Given the description of an element on the screen output the (x, y) to click on. 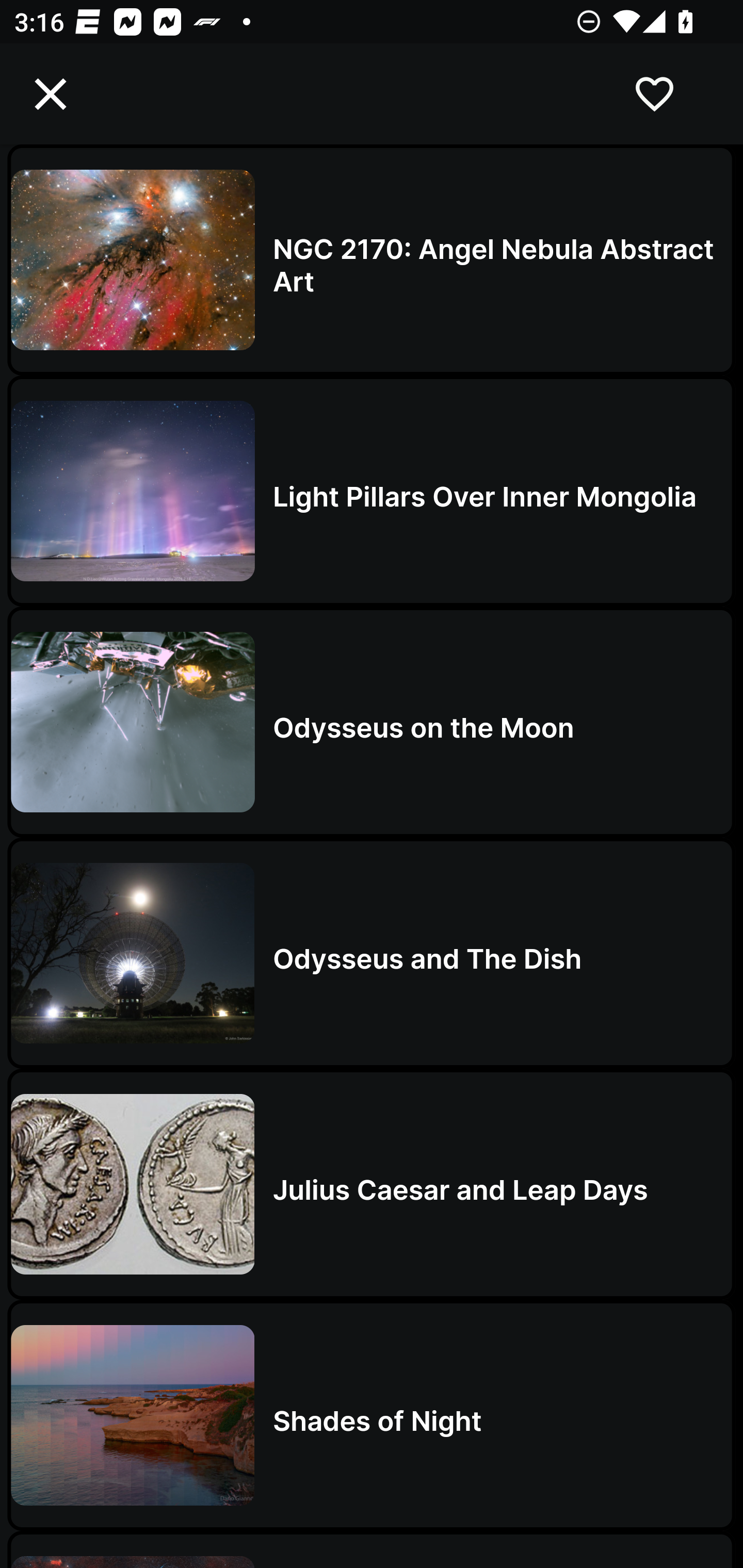
NGC 2170: Angel Nebula Abstract Art (371, 259)
Light Pillars Over Inner Mongolia (371, 490)
Odysseus on the Moon (371, 721)
Odysseus and The Dish (371, 953)
Julius Caesar and Leap Days (371, 1184)
Shades of Night (371, 1414)
